Given the description of an element on the screen output the (x, y) to click on. 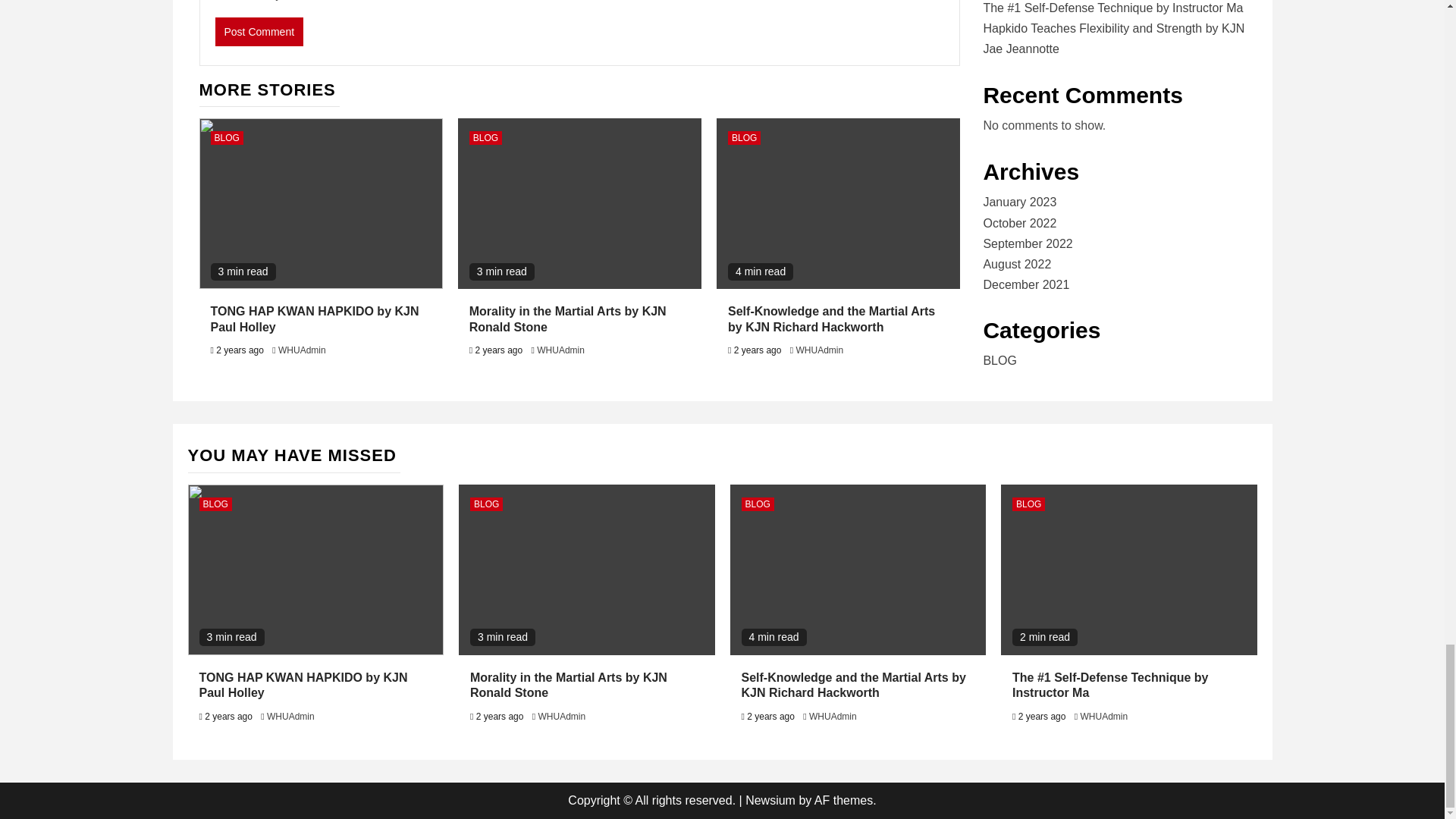
Post Comment (259, 31)
BLOG (744, 137)
WHUAdmin (302, 349)
Post Comment (259, 31)
BLOG (227, 137)
BLOG (485, 137)
Morality in the Martial Arts by KJN Ronald Stone (567, 318)
WHUAdmin (561, 349)
Self-Knowledge and the Martial Arts by KJN Richard Hackworth (831, 318)
WHUAdmin (820, 349)
TONG HAP KWAN HAPKIDO by KJN Paul Holley (315, 318)
